Given the description of an element on the screen output the (x, y) to click on. 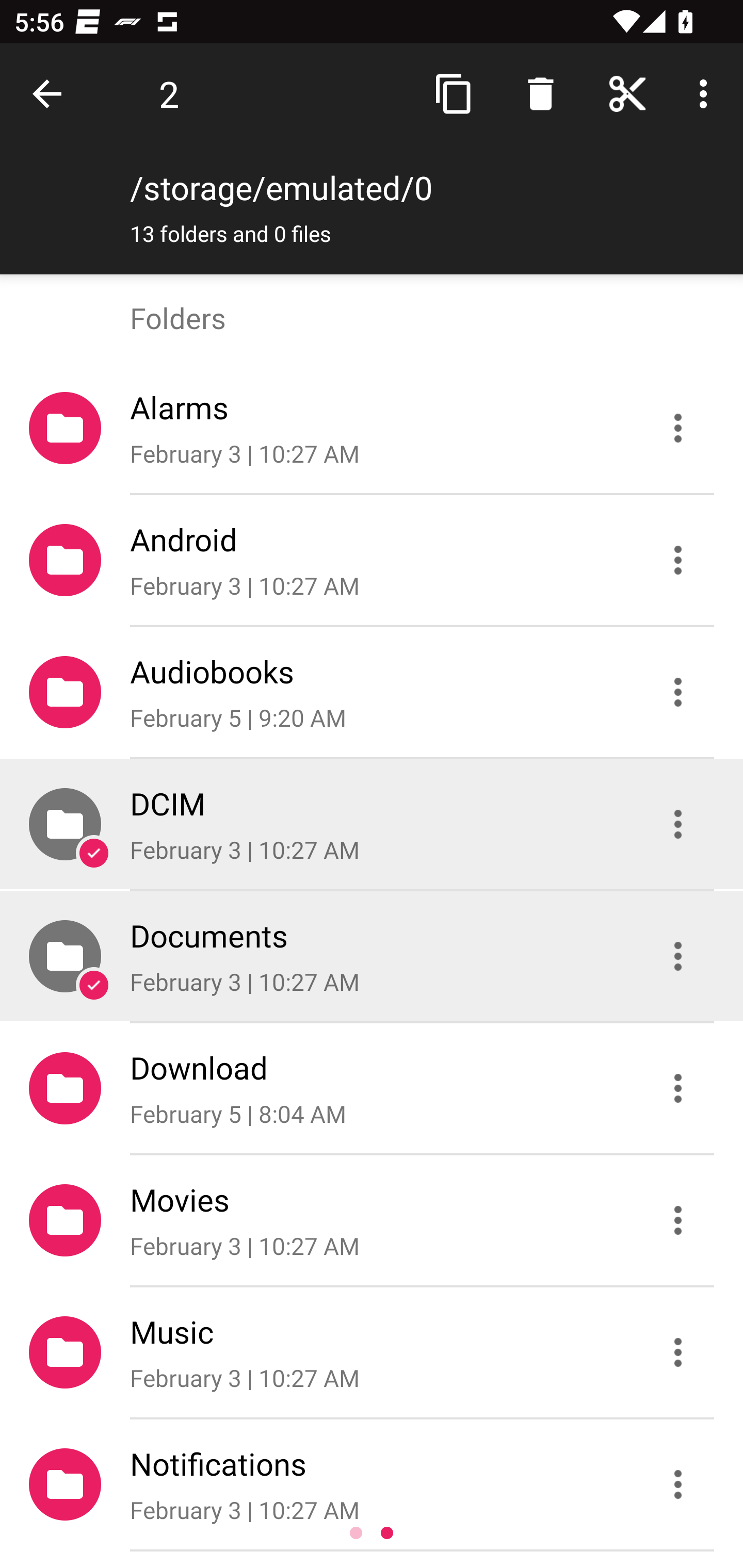
Navigate up (50, 93)
2 (169, 93)
Copy (453, 93)
Search (540, 93)
Home (626, 93)
More options (706, 93)
Alarms February 3 | 10:27 AM (371, 427)
Android February 3 | 10:27 AM (371, 560)
Audiobooks February 5 | 9:20 AM (371, 692)
DCIM February 3 | 10:27 AM (371, 823)
Documents February 3 | 10:27 AM (371, 955)
Download February 5 | 8:04 AM (371, 1088)
Movies February 3 | 10:27 AM (371, 1220)
Music February 3 | 10:27 AM (371, 1352)
Notifications February 3 | 10:27 AM (371, 1484)
